Given the description of an element on the screen output the (x, y) to click on. 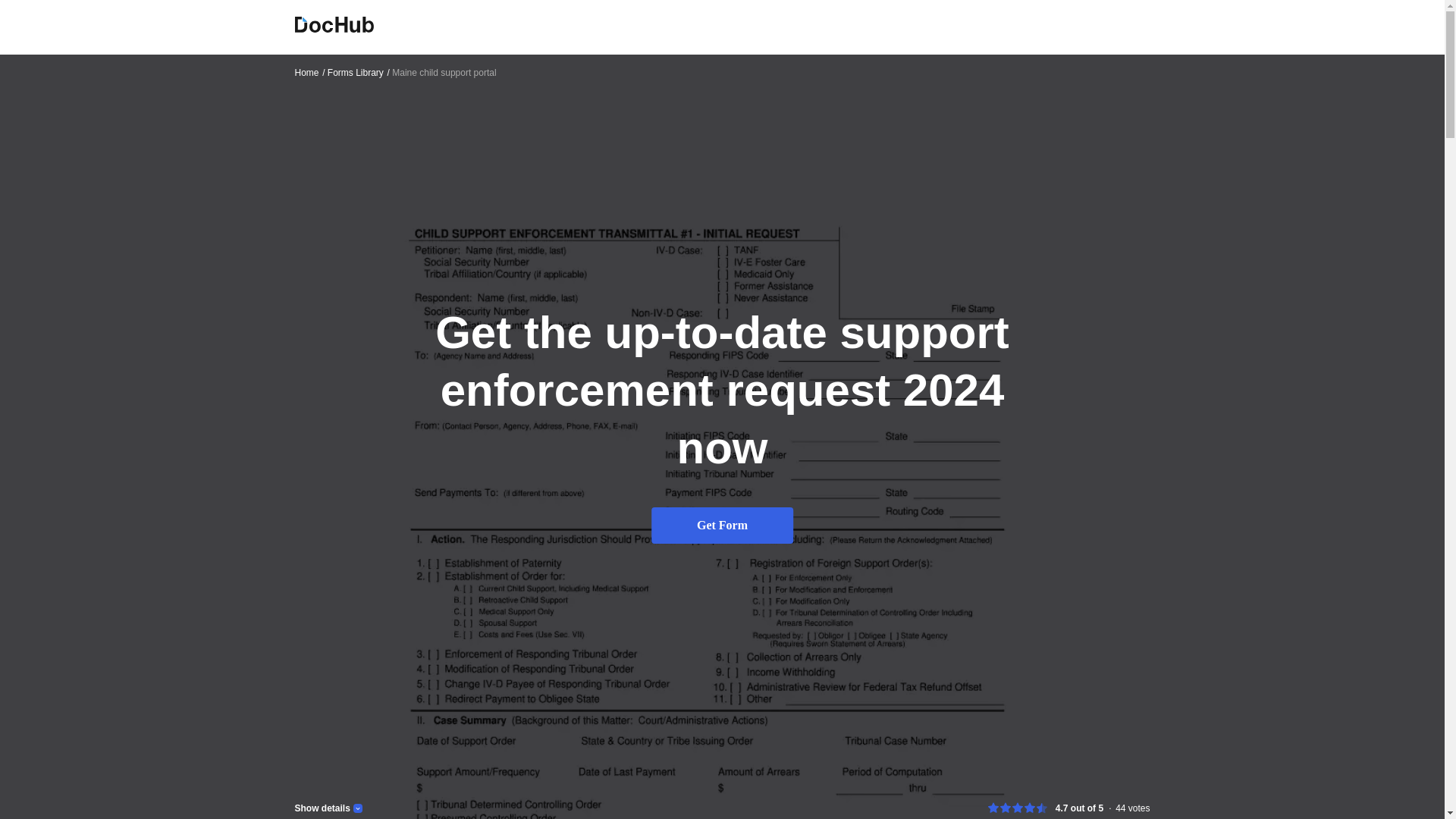
Home (309, 72)
Forms Library (358, 72)
